Given the description of an element on the screen output the (x, y) to click on. 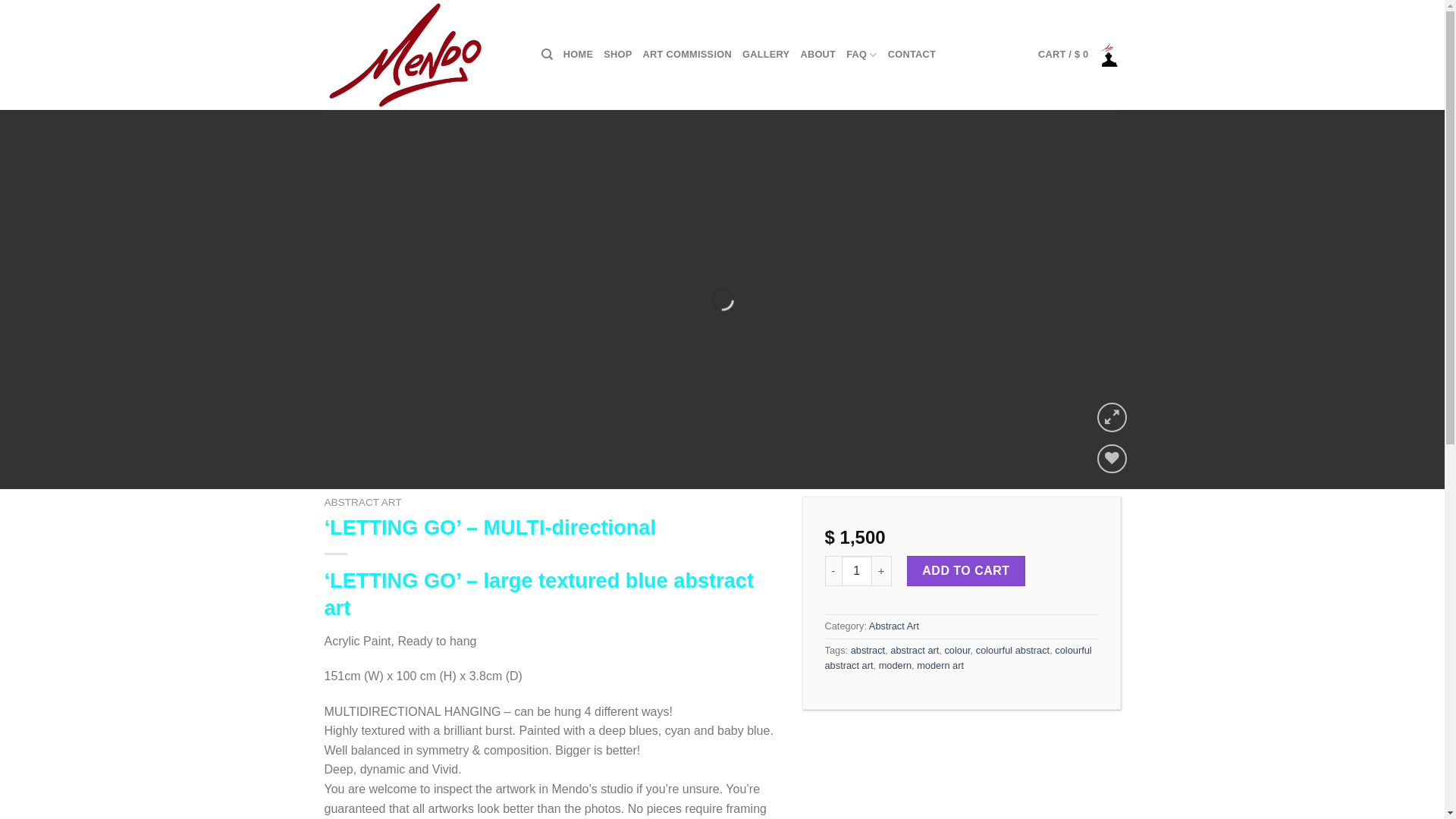
abstract art Element type: text (914, 649)
SHOP Element type: text (617, 54)
colourful abstract Element type: text (1012, 649)
CONTACT Element type: text (911, 54)
CART / $ 0 Element type: text (1079, 54)
colourful abstract art Element type: text (958, 657)
FAQ Element type: text (861, 54)
modern art Element type: text (939, 665)
ABOUT Element type: text (817, 54)
colour Element type: text (956, 649)
Zoom Element type: hover (1111, 417)
Qty Element type: hover (856, 570)
ABSTRACT ART Element type: text (362, 502)
modern Element type: text (894, 665)
abstract Element type: text (867, 649)
GALLERY Element type: text (765, 54)
ART COMMISSION Element type: text (687, 54)
Abstract Art Element type: text (894, 625)
ADD TO CART Element type: text (965, 570)
HOME Element type: text (578, 54)
